Given the description of an element on the screen output the (x, y) to click on. 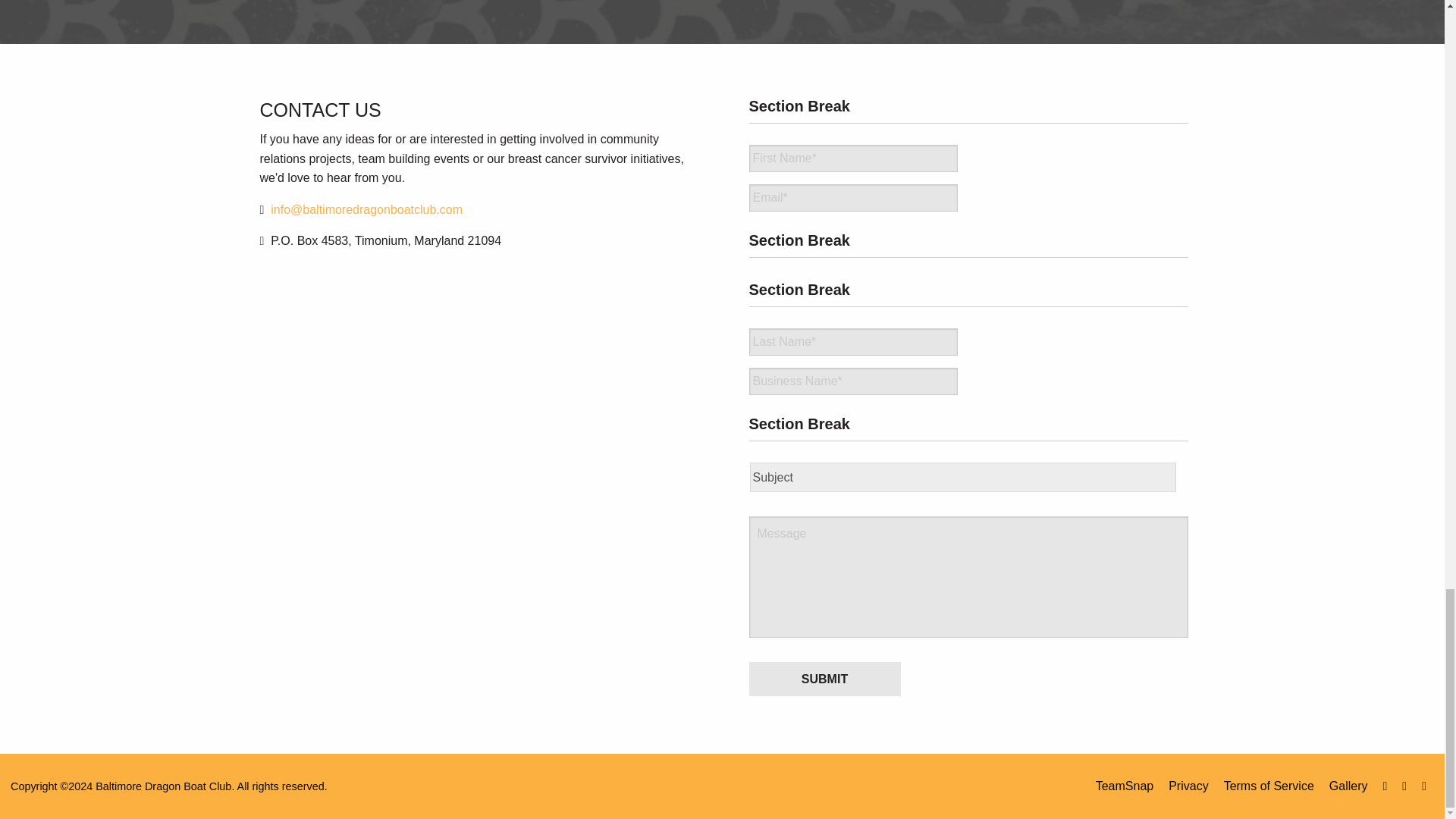
Submit (825, 678)
Gallery (1348, 785)
Terms of Service (1269, 785)
Submit (825, 678)
Privacy (1188, 785)
TeamSnap (1125, 785)
